Given the description of an element on the screen output the (x, y) to click on. 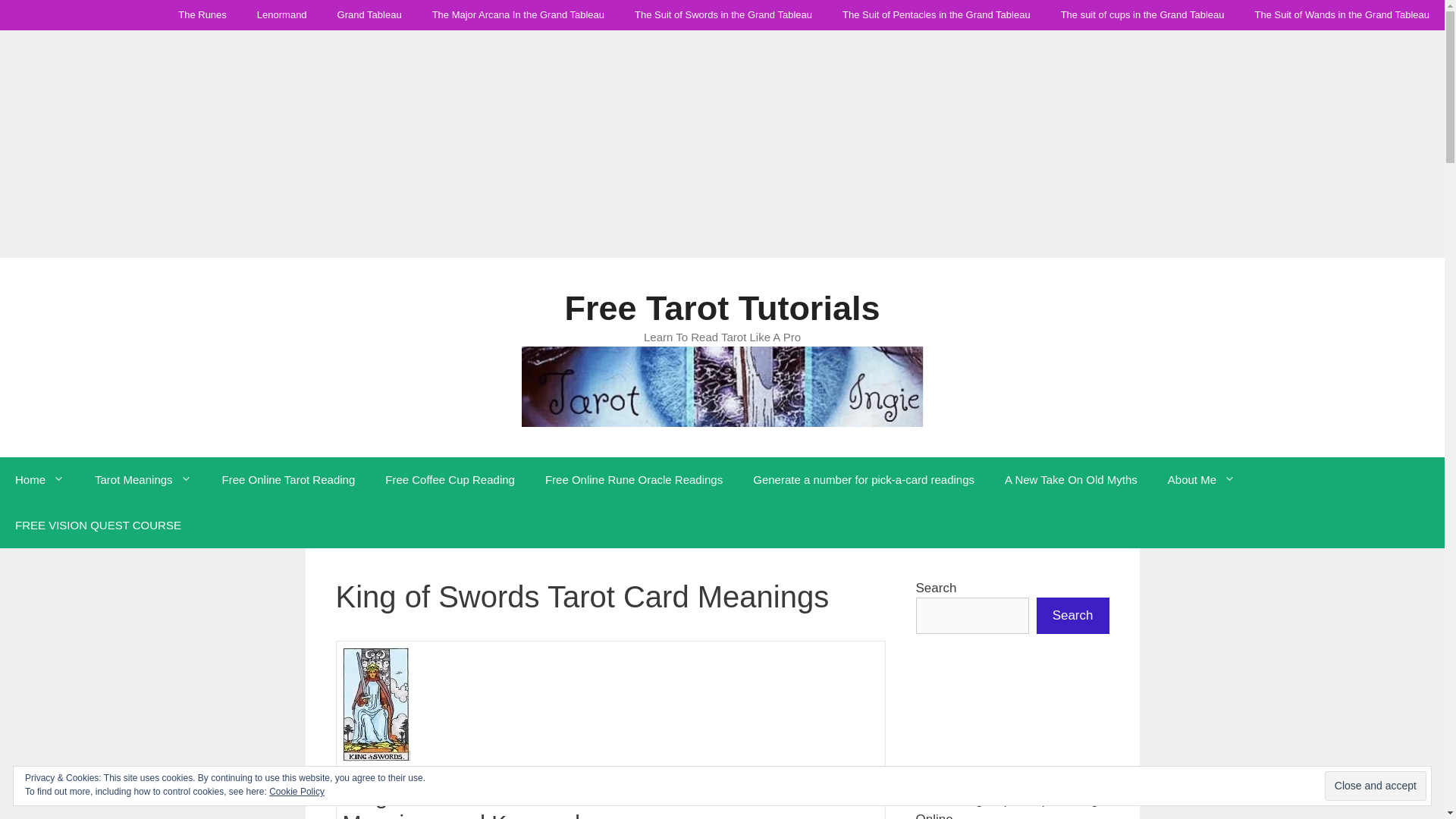
Free Online Rune Oracle Readings (633, 479)
The Suit of Pentacles in the Grand Tableau (936, 15)
The suit of cups in the Grand Tableau (1142, 15)
A New Take On Old Myths (1071, 479)
Close and accept (1375, 785)
The Major Arcana In the Grand Tableau (518, 15)
Grand Tableau (368, 15)
Generate a number for pick-a-card readings (864, 479)
Free Online Tarot Reading (288, 479)
